Given the description of an element on the screen output the (x, y) to click on. 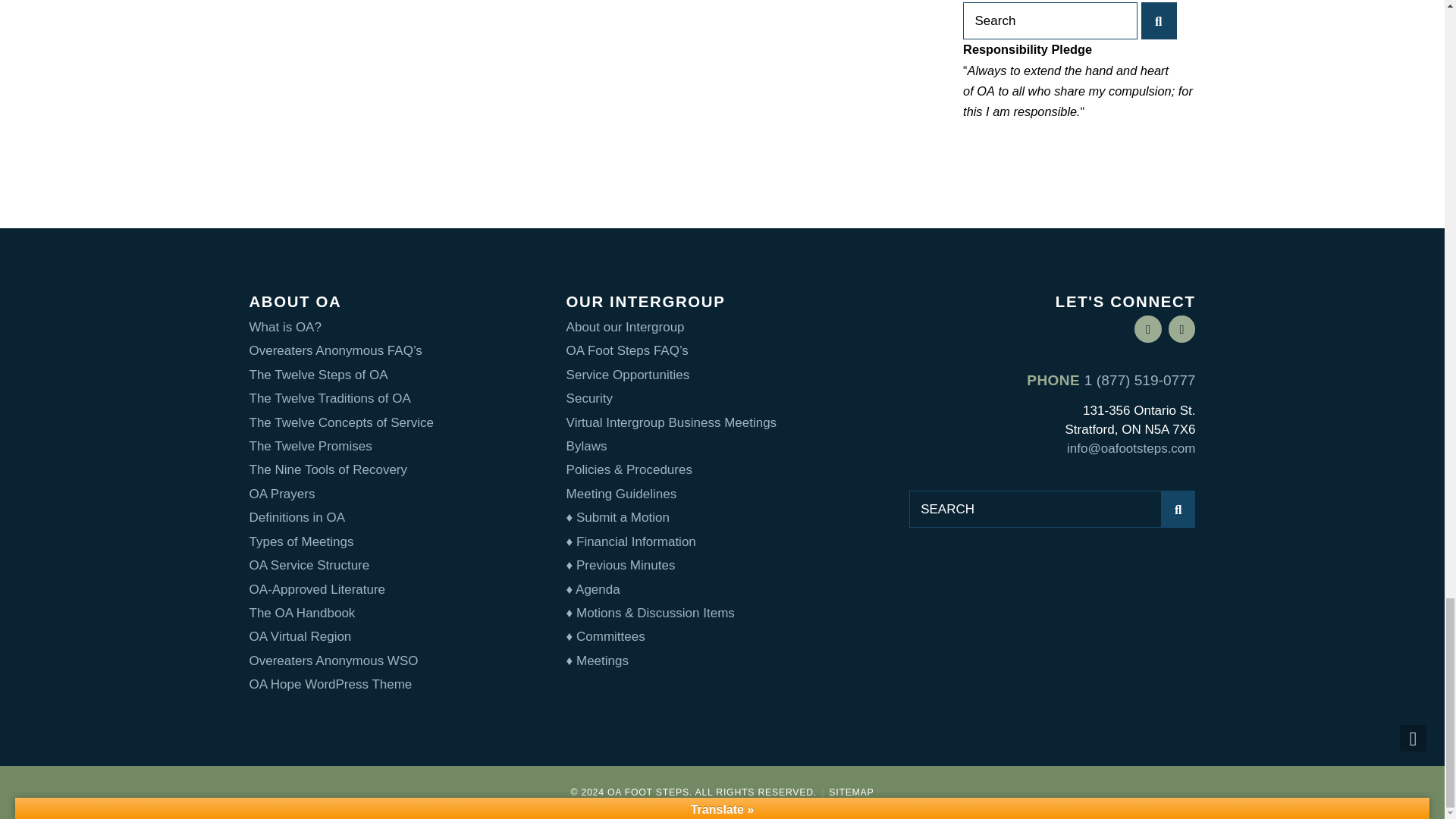
Follow on TikTok (1181, 329)
Like me on Facebook (1147, 329)
